Given the description of an element on the screen output the (x, y) to click on. 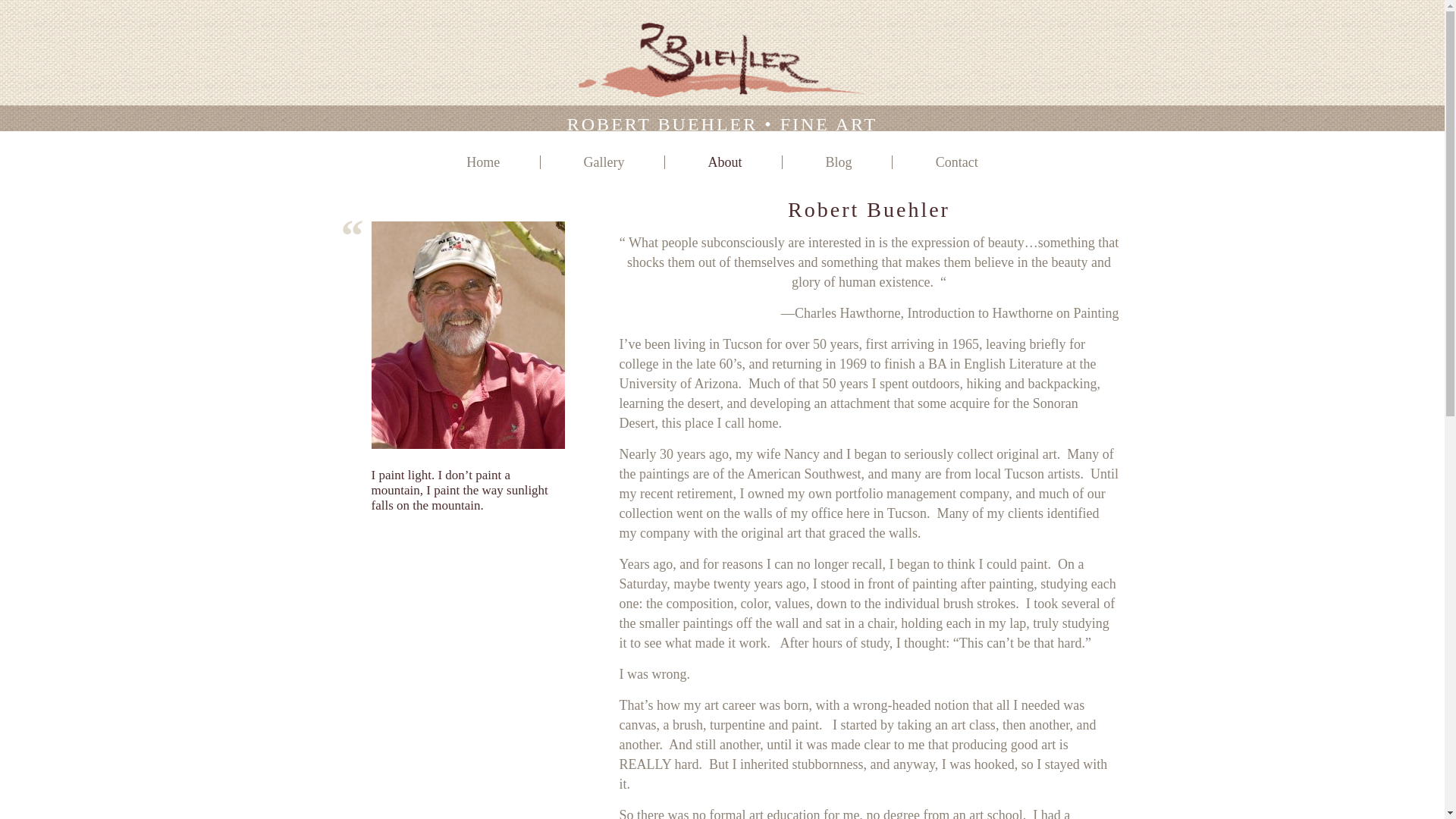
Home (482, 161)
Gallery (603, 161)
About (724, 161)
Contact (957, 161)
Blog (838, 161)
